Given the description of an element on the screen output the (x, y) to click on. 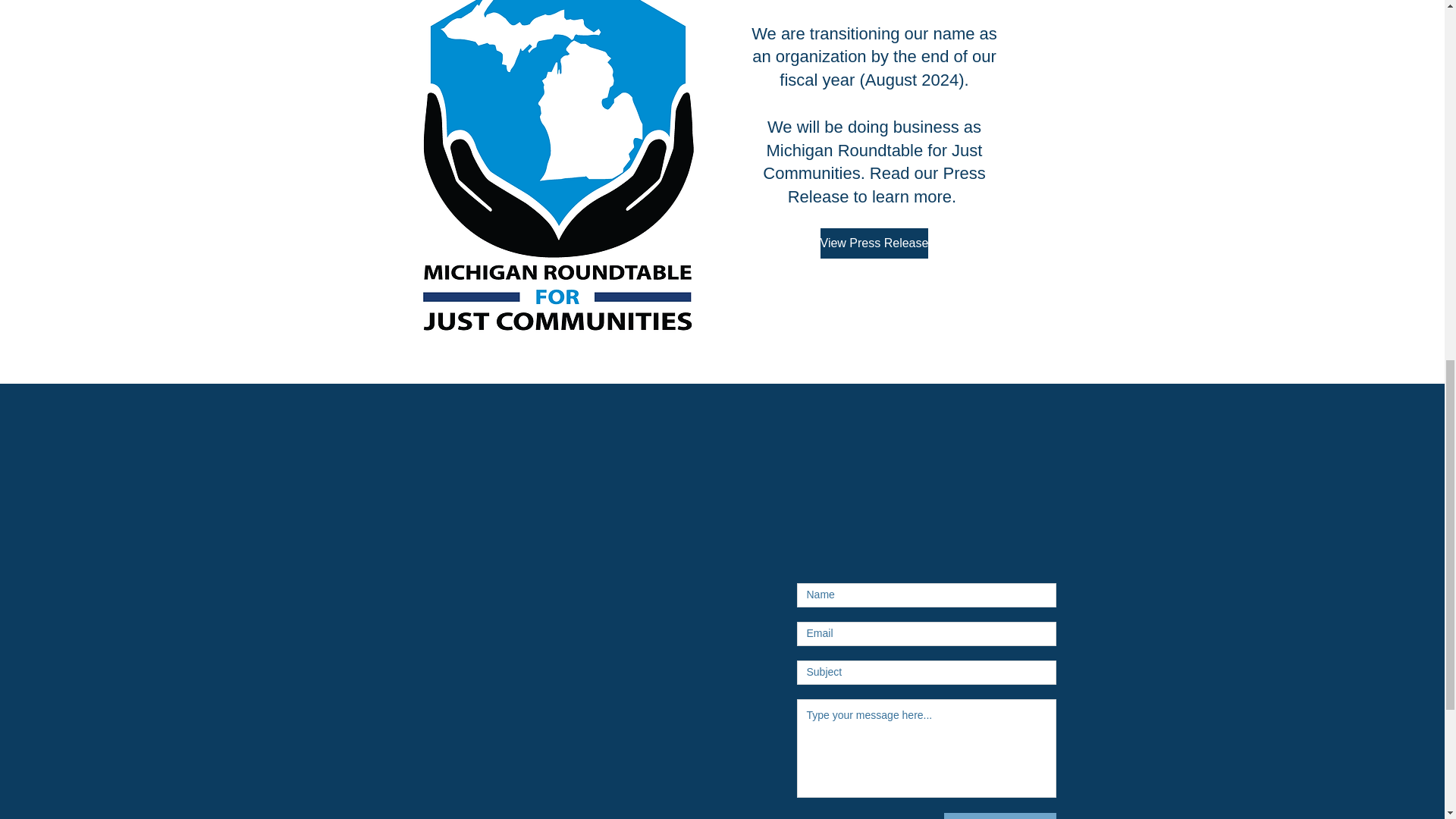
Submit (999, 816)
View Press Release (874, 243)
